Given the description of an element on the screen output the (x, y) to click on. 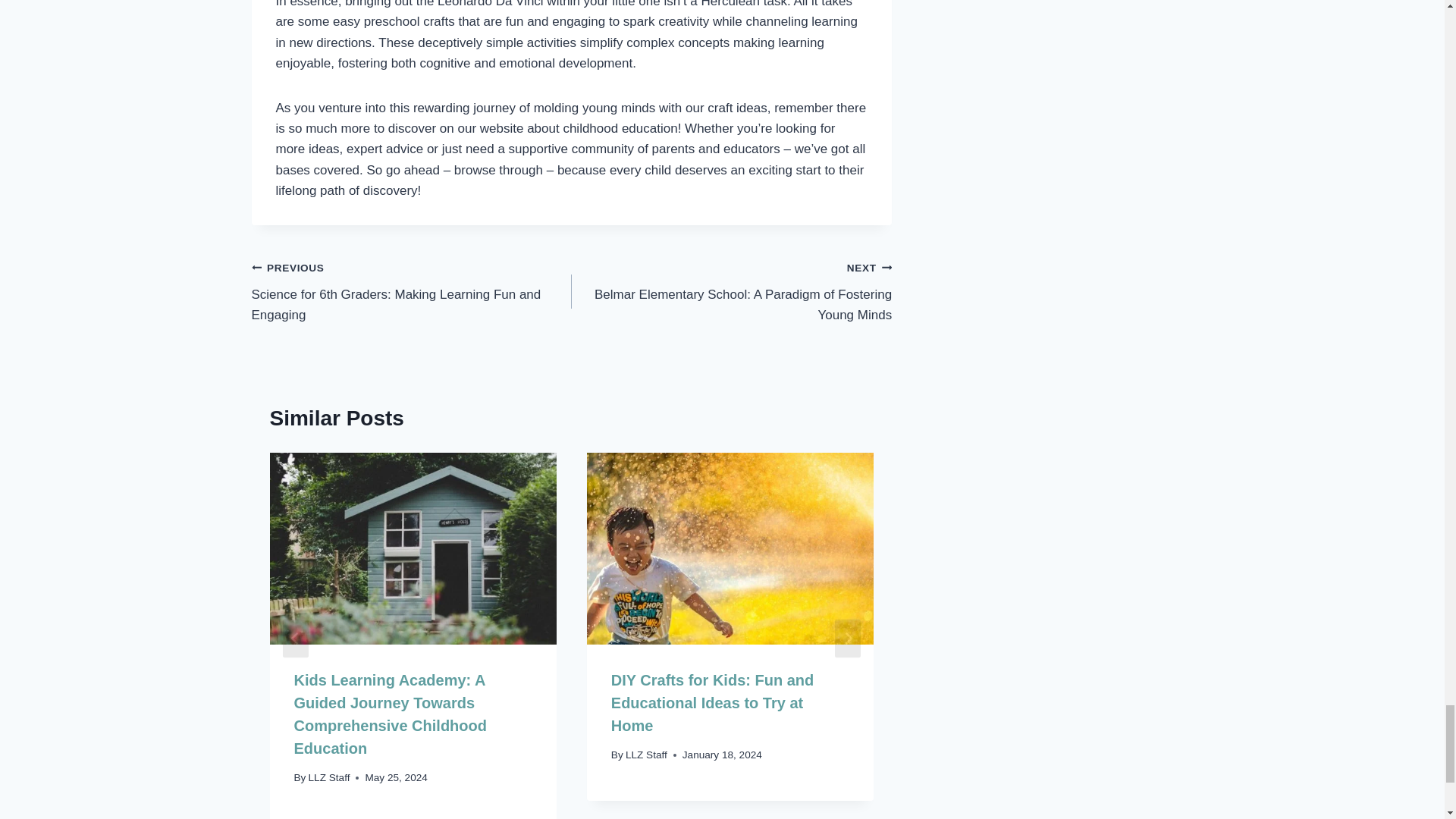
LLZ Staff (646, 754)
LLZ Staff (329, 777)
